Given the description of an element on the screen output the (x, y) to click on. 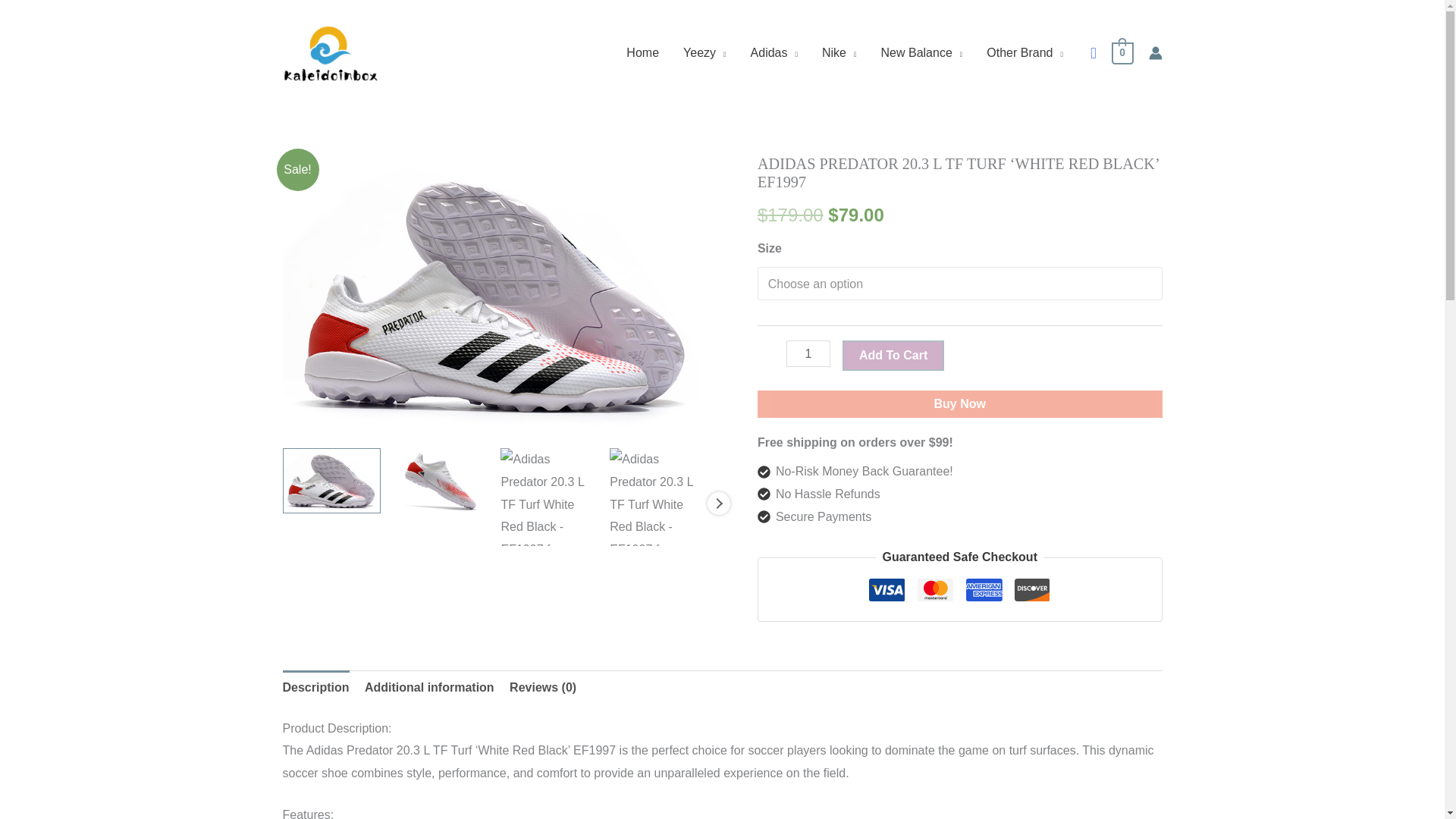
Yeezy (704, 52)
Adidas (773, 52)
Home (642, 52)
